Given the description of an element on the screen output the (x, y) to click on. 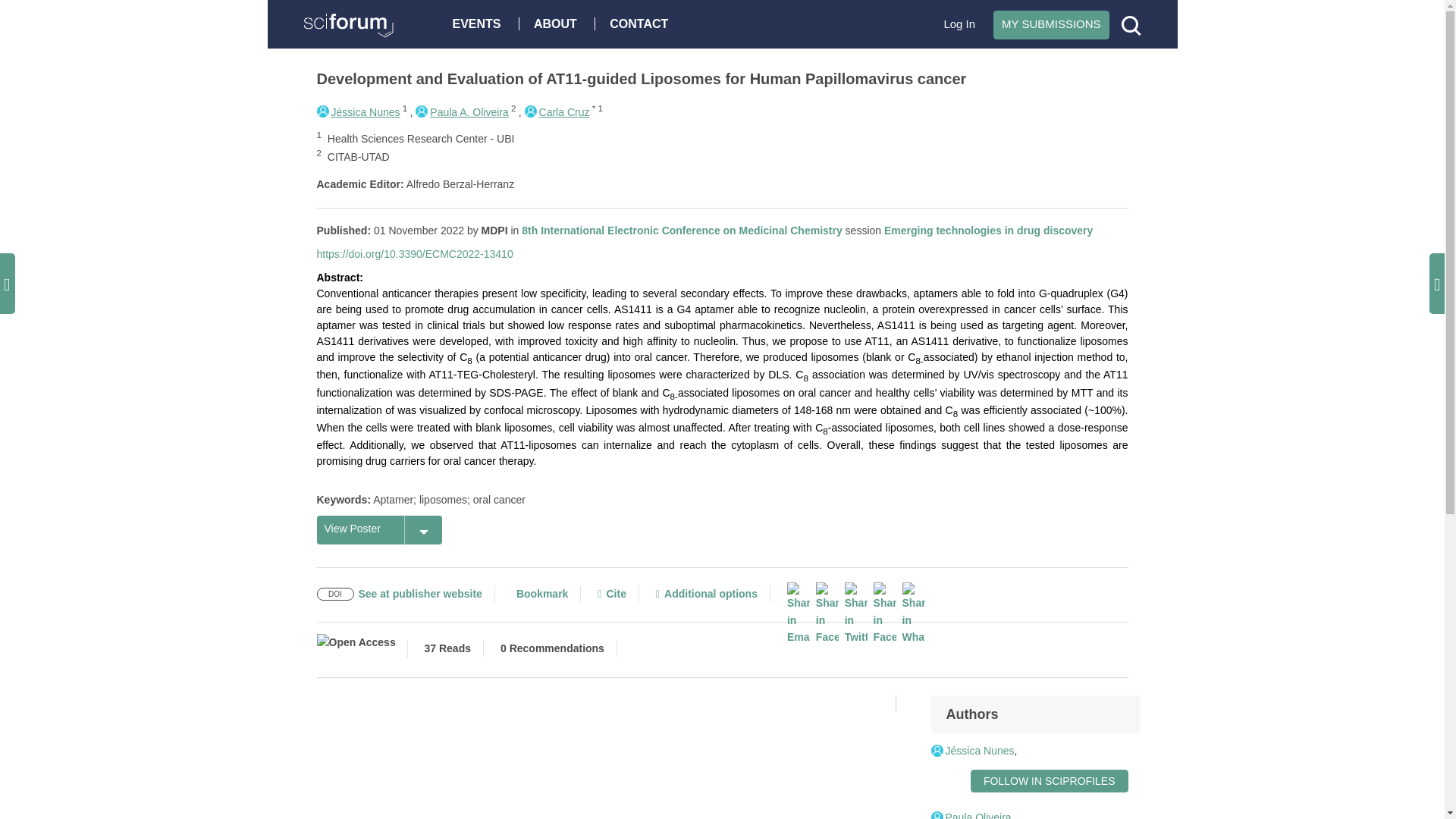
EVENTS (480, 23)
Paula A. Oliveira (461, 111)
ABOUT (558, 23)
CONTACT (641, 23)
MY SUBMISSIONS (1050, 24)
